Given the description of an element on the screen output the (x, y) to click on. 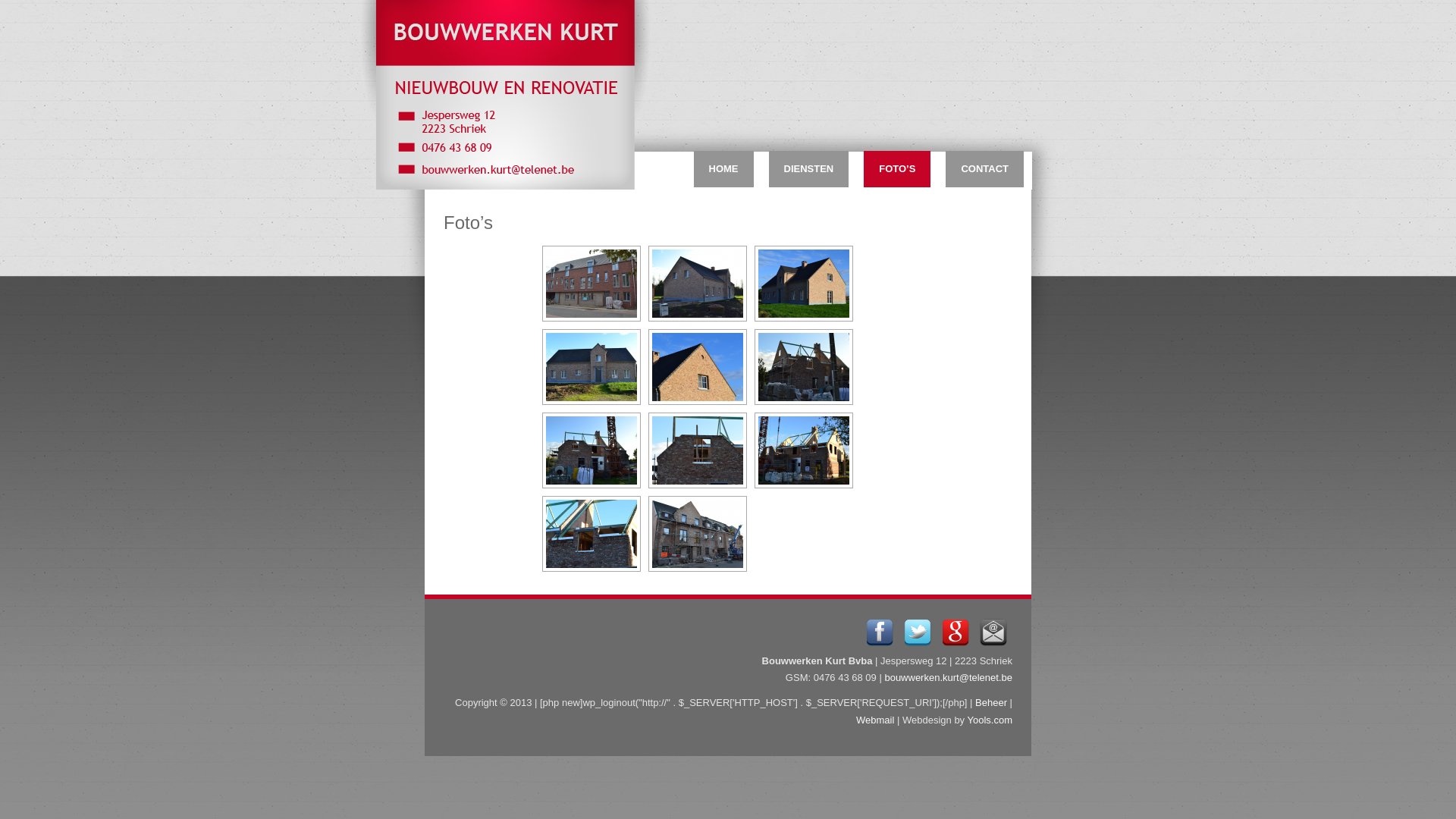
Webmail Element type: text (875, 719)
foto8 Element type: hover (803, 366)
Deel via e-mail Element type: hover (993, 643)
Tweet dit! Element type: hover (917, 643)
foto7 Element type: hover (697, 366)
Deel op Google+ Element type: hover (955, 632)
foto11 Element type: hover (803, 450)
Deel op Facebook Element type: hover (879, 643)
Beheer Element type: text (991, 702)
foto6 Element type: hover (591, 366)
foto10 Element type: hover (697, 450)
foto5 Element type: hover (803, 283)
Yools.com Element type: text (990, 719)
Deel op Google+ Element type: hover (955, 643)
Tweet dit Element type: hover (917, 632)
bouwwerken.kurt@telenet.be Element type: text (948, 677)
foto12 Element type: hover (591, 533)
Deel via e-mail Element type: hover (993, 632)
foto14 Element type: hover (697, 533)
foto3 Element type: hover (591, 283)
DIENSTEN Element type: text (808, 168)
HOME Element type: text (723, 168)
Deel op Facebook Element type: hover (879, 632)
foto9 Element type: hover (591, 450)
CONTACT Element type: text (984, 168)
foto4 Element type: hover (697, 283)
